Given the description of an element on the screen output the (x, y) to click on. 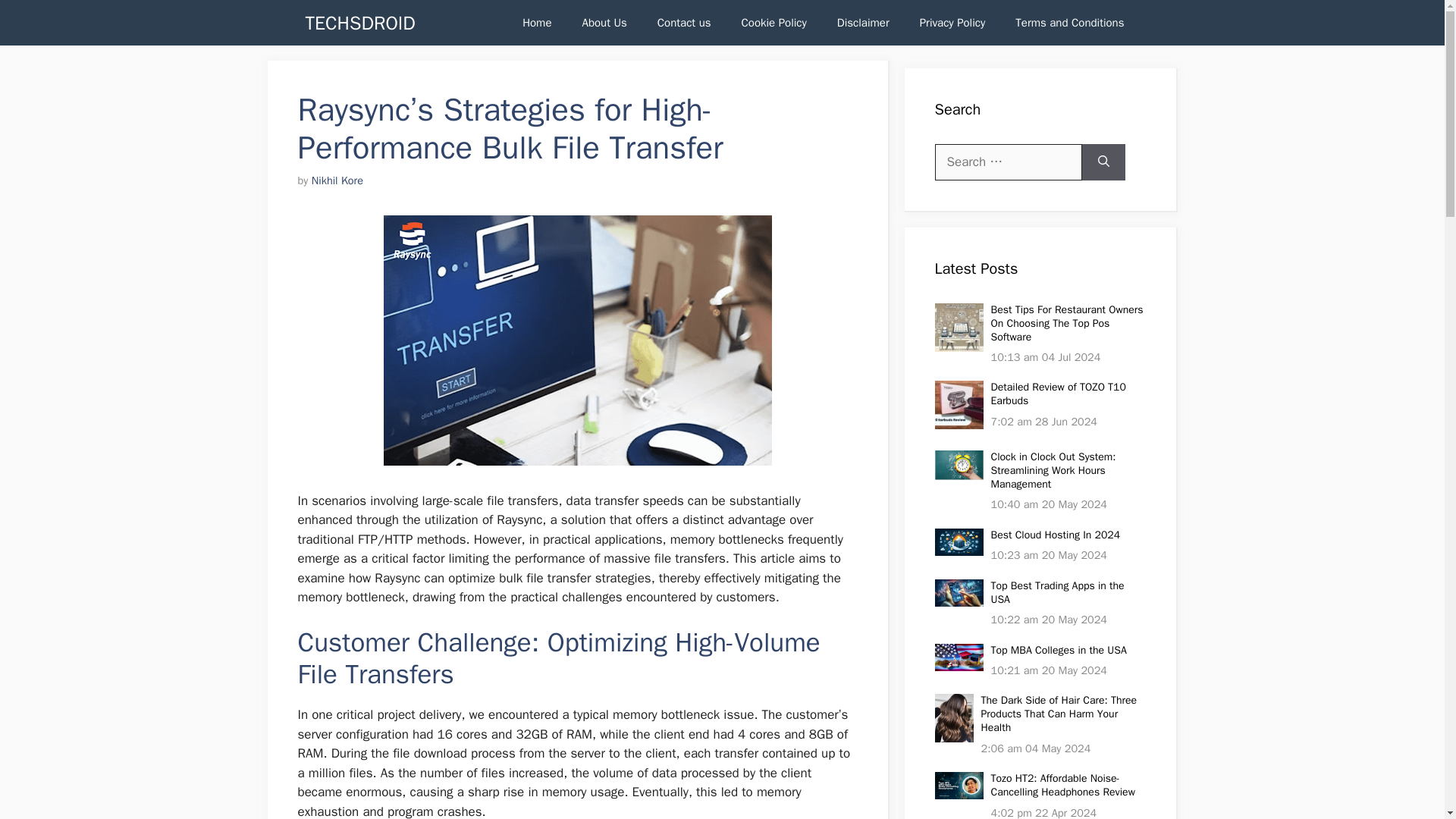
Top MBA Colleges in the USA (1057, 649)
Search for: (1007, 162)
Home (536, 22)
Terms and Conditions (1069, 22)
Contact us (684, 22)
TECHSDROID (359, 22)
Detailed Review of TOZO T10 Earbuds (1057, 393)
Best Cloud Hosting In 2024 (1054, 534)
View all posts by Nikhil Kore (336, 180)
